Given the description of an element on the screen output the (x, y) to click on. 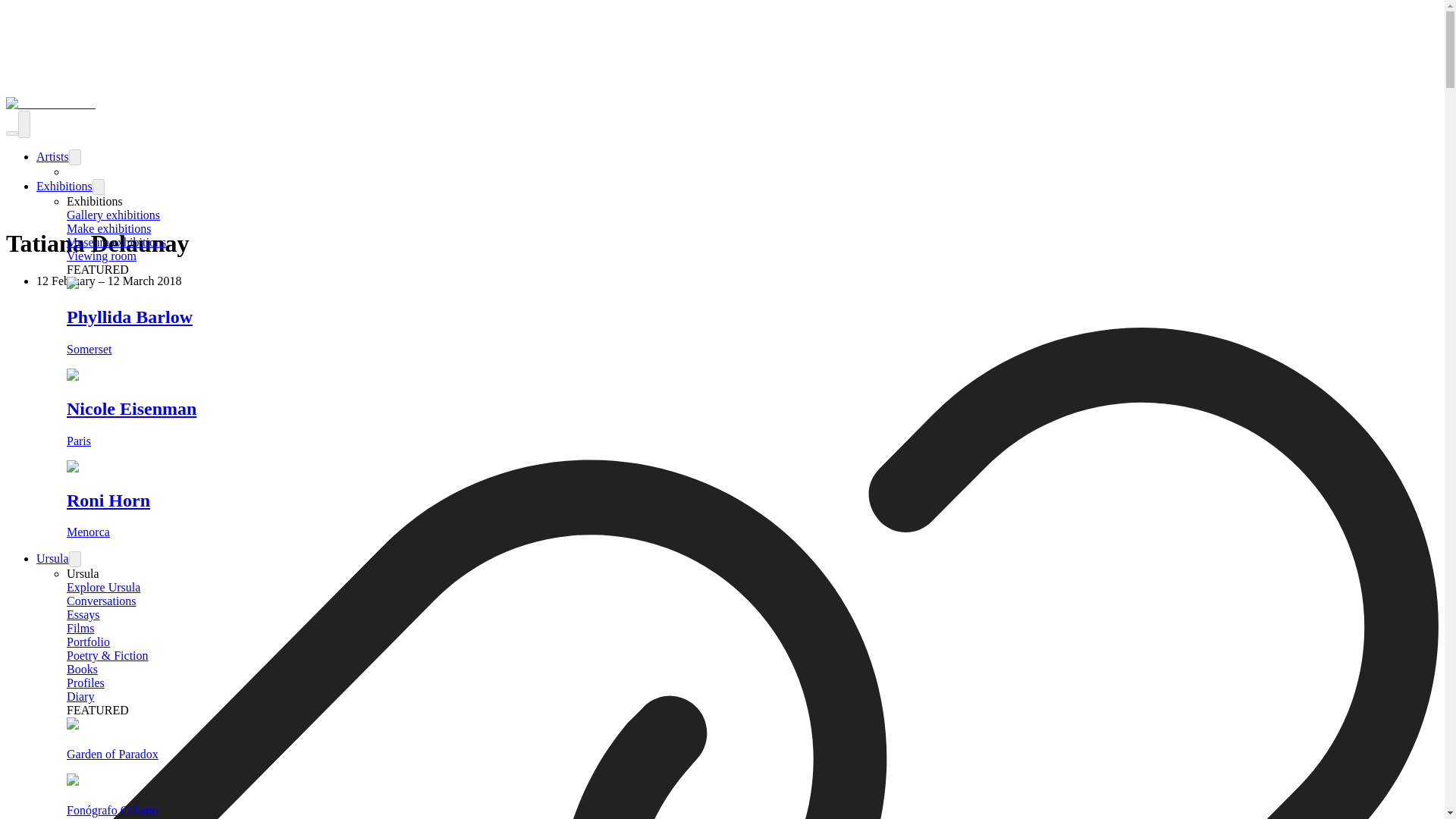
Books (81, 668)
Conversations (101, 600)
Portfolio (88, 641)
Ursula (52, 558)
Films (80, 627)
Museum exhibitions (115, 241)
Gallery exhibitions (113, 214)
Diary (80, 696)
Make exhibitions (108, 228)
Explore Ursula (102, 586)
Exhibitions (64, 185)
Essays (83, 614)
Viewing room (101, 255)
Profiles (85, 682)
Artists (52, 155)
